Given the description of an element on the screen output the (x, y) to click on. 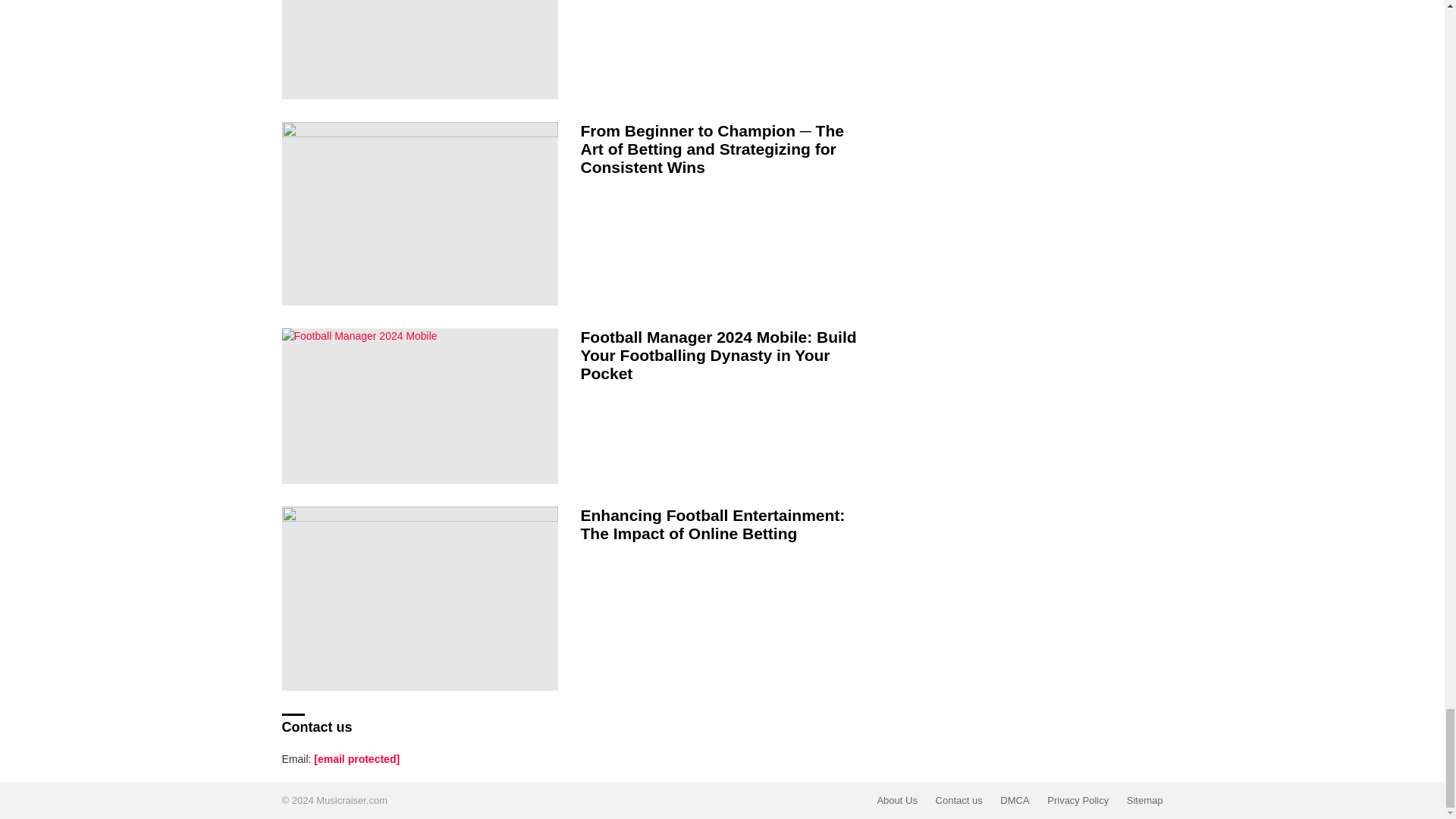
Motivation for Athletes: Strategies and Methods for Success (419, 49)
